Given the description of an element on the screen output the (x, y) to click on. 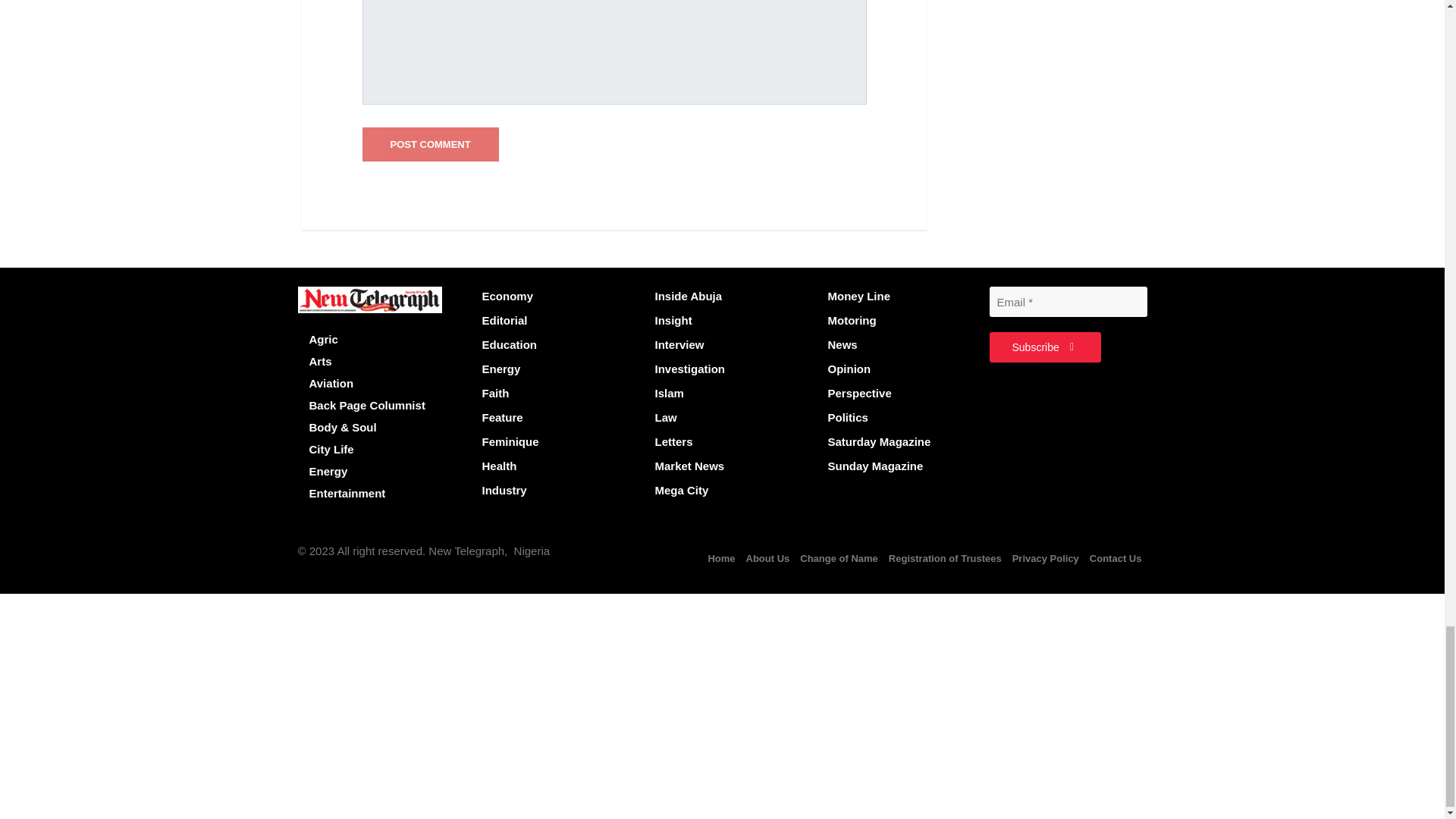
Post Comment (430, 144)
